Given the description of an element on the screen output the (x, y) to click on. 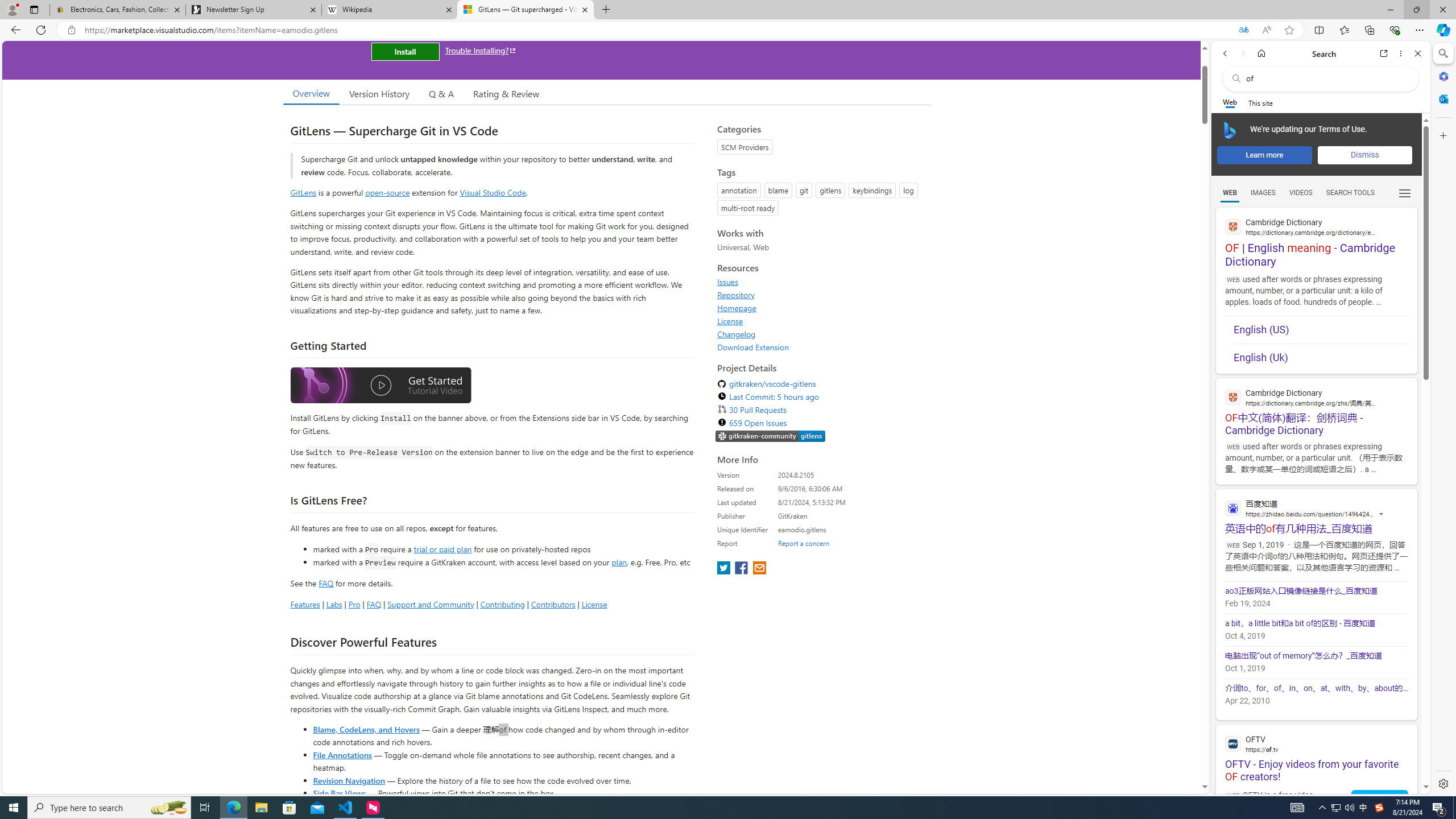
Issues (820, 281)
Cambridge Dictionary (1315, 397)
Labs (334, 603)
OFTV (1315, 743)
Version History (379, 92)
Report a concern (803, 542)
File Annotations (342, 754)
